Given the description of an element on the screen output the (x, y) to click on. 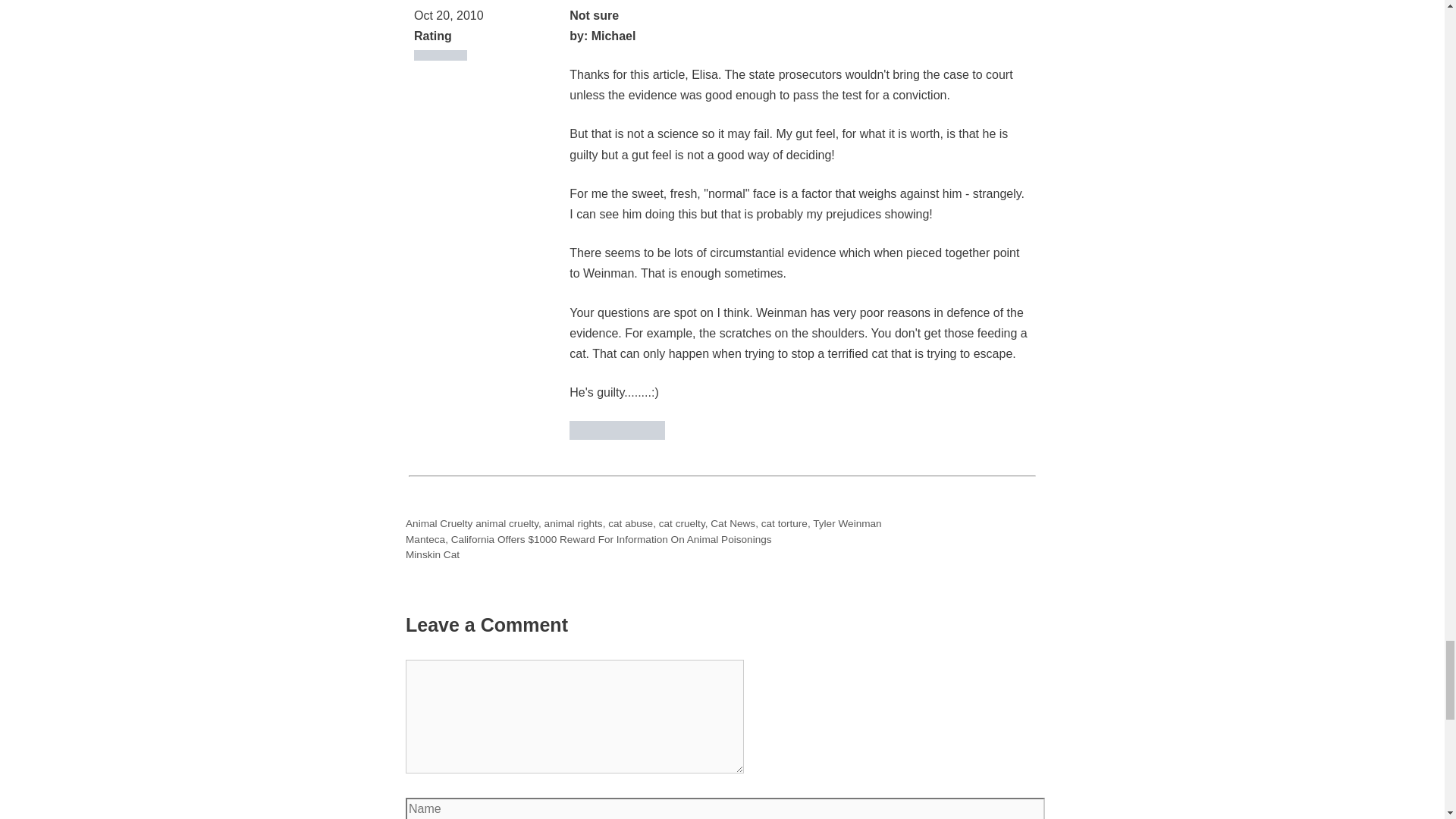
animal rights (573, 523)
animal cruelty (507, 523)
Tyler Weinman (846, 523)
cat torture (784, 523)
Animal Cruelty (438, 523)
Cat News (732, 523)
cat abuse (630, 523)
cat cruelty (681, 523)
